Given the description of an element on the screen output the (x, y) to click on. 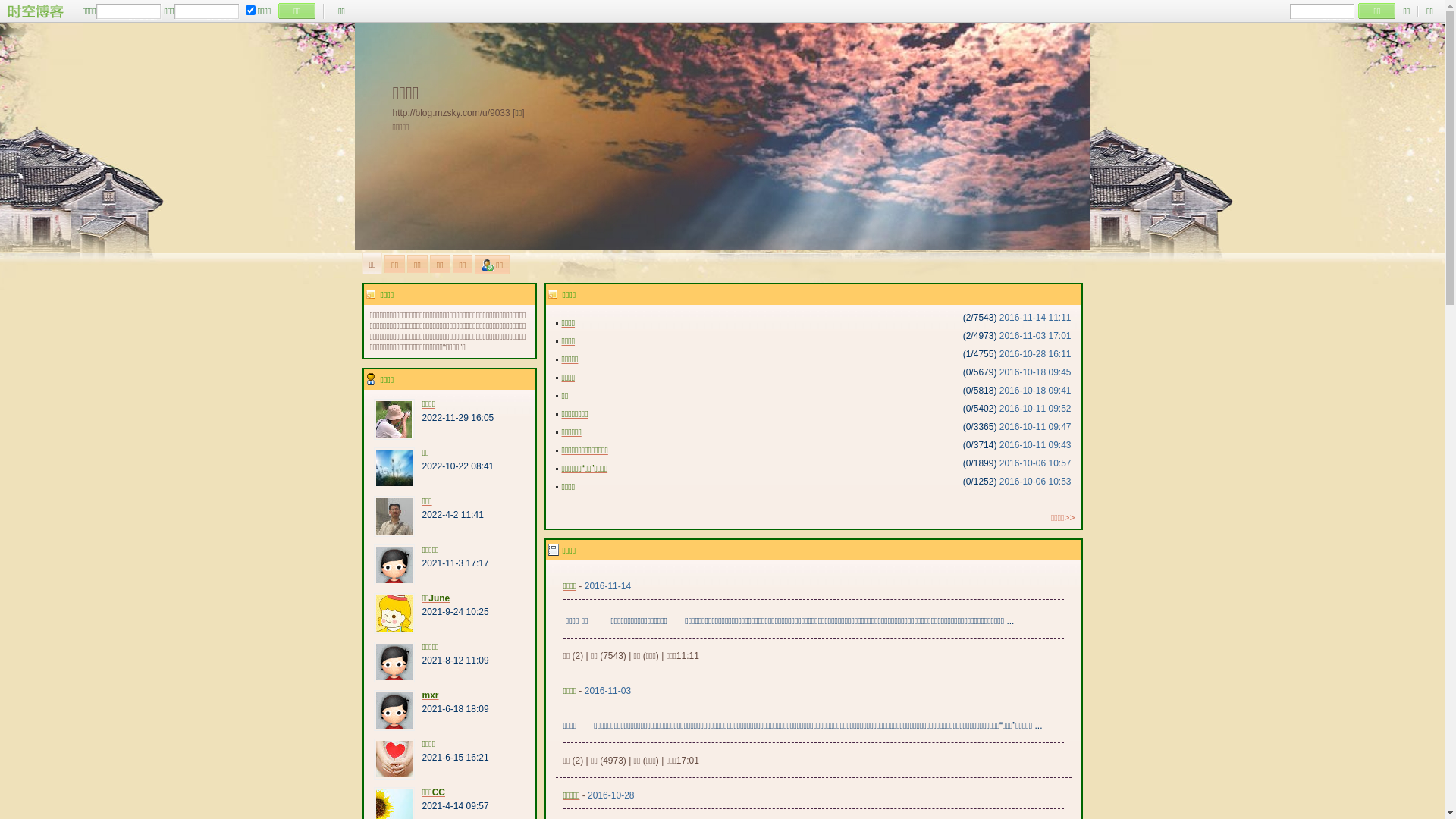
mxr Element type: text (429, 695)
